Given the description of an element on the screen output the (x, y) to click on. 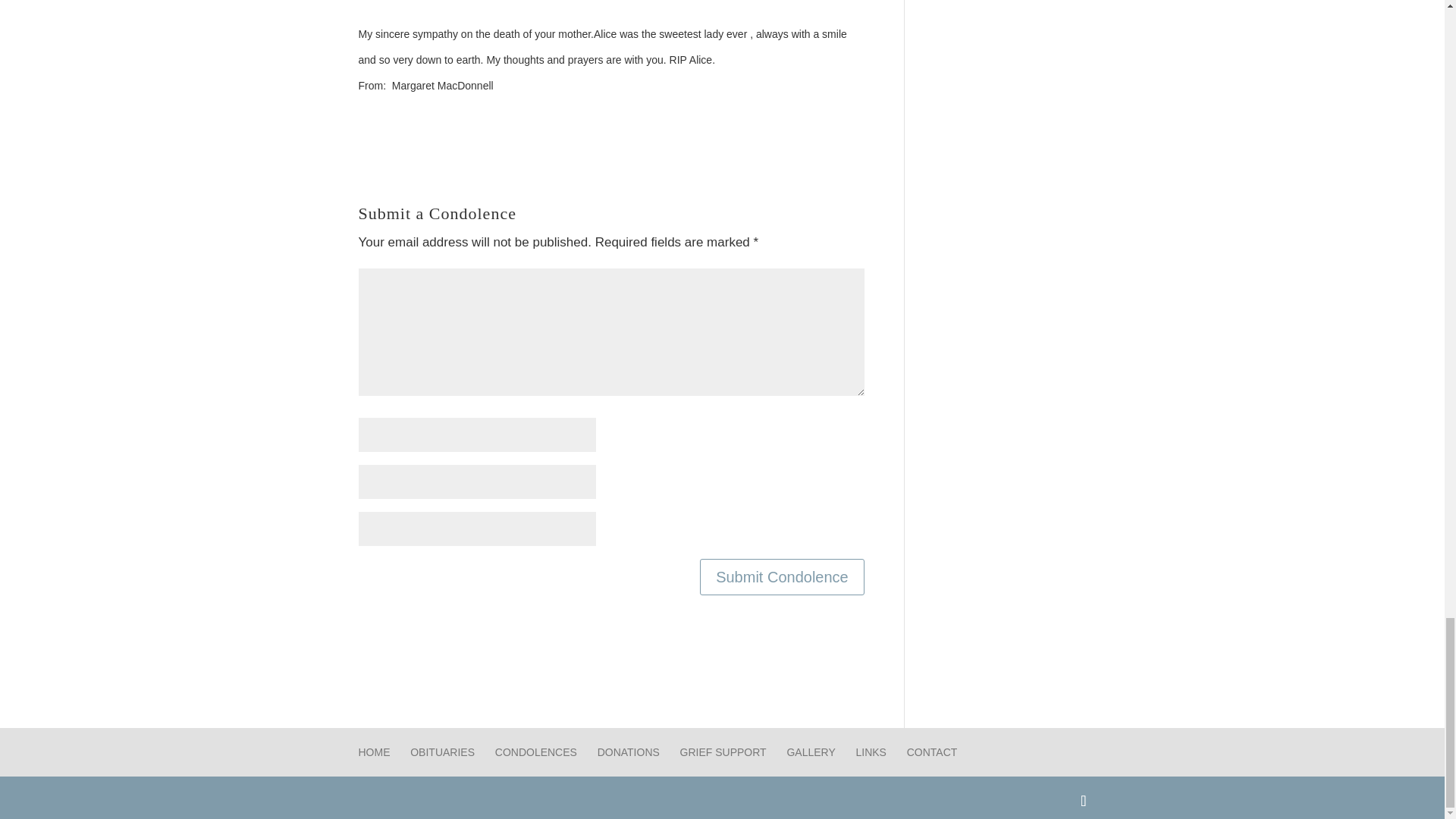
GRIEF SUPPORT (723, 752)
GALLERY (810, 752)
HOME (374, 752)
Submit Condolence (782, 576)
CONTACT (932, 752)
LINKS (870, 752)
DONATIONS (627, 752)
CONDOLENCES (535, 752)
OBITUARIES (442, 752)
Submit Condolence (782, 576)
